Given the description of an element on the screen output the (x, y) to click on. 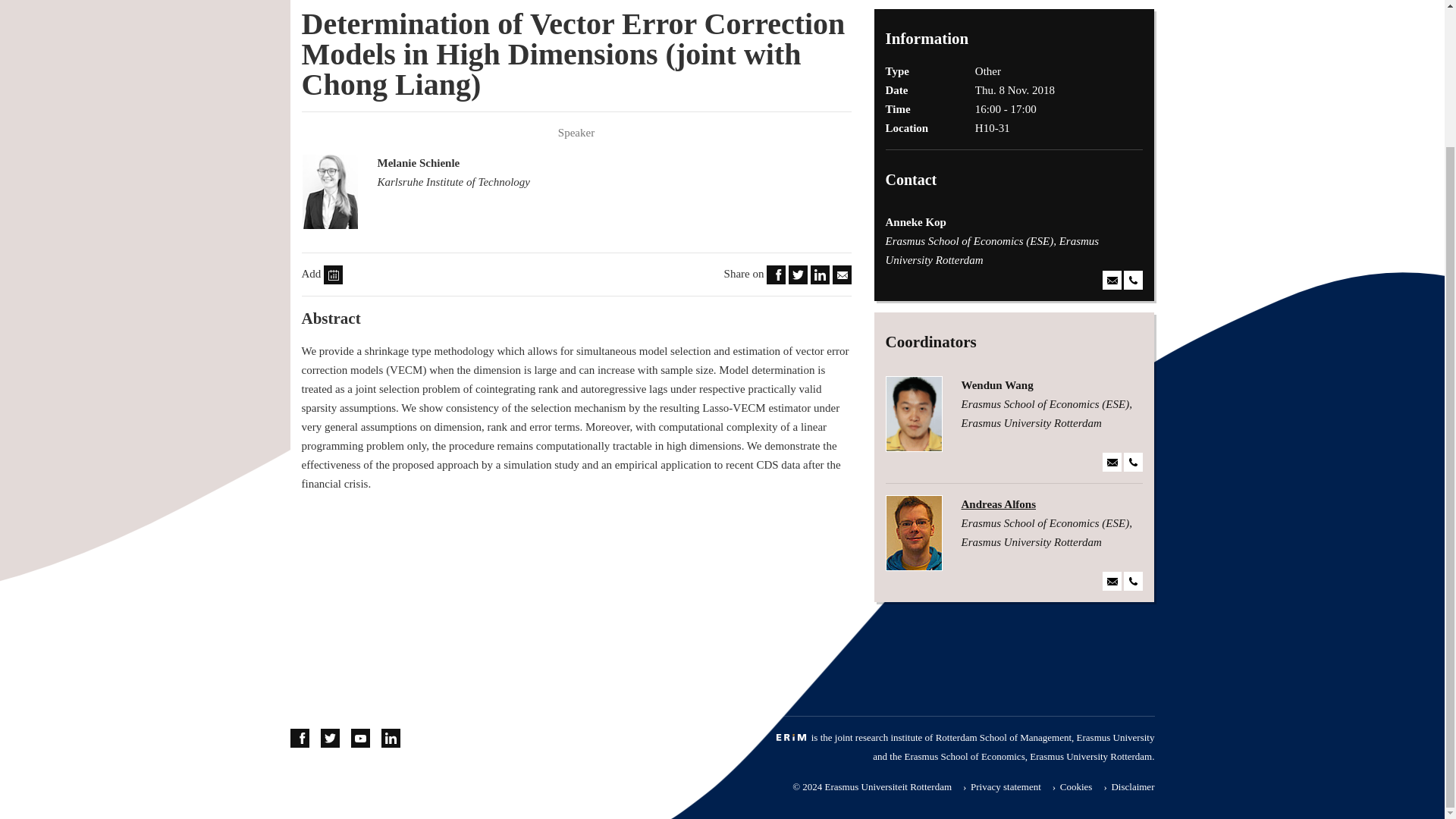
LinkedIn (819, 274)
Twitter (798, 274)
Email this event (841, 274)
Facebook (776, 274)
Email (841, 274)
Add to Calendar (332, 274)
